Given the description of an element on the screen output the (x, y) to click on. 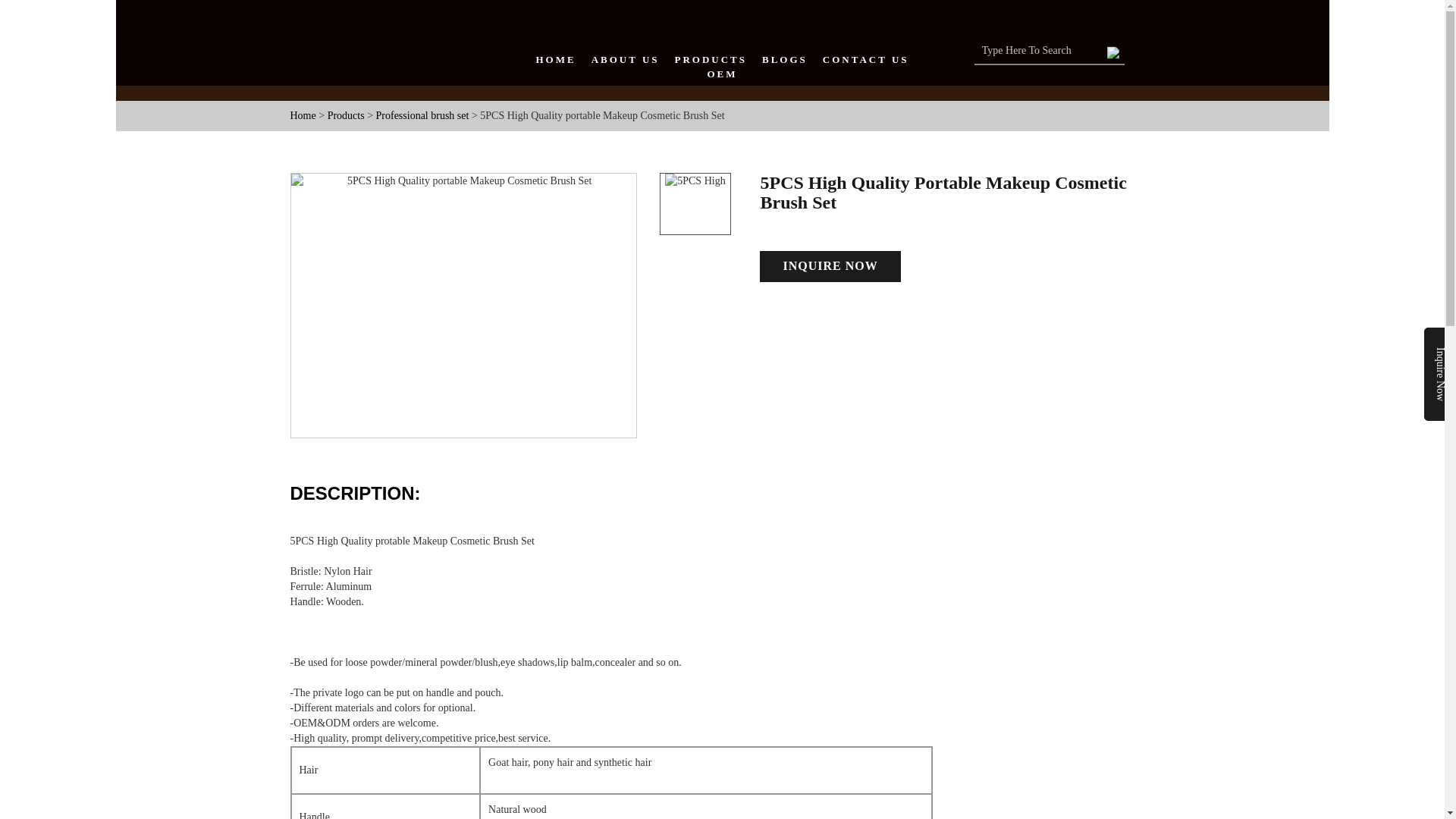
ABOUT US (625, 60)
BLOGS (784, 60)
Professional brush set (423, 115)
OEM (721, 74)
Malena (389, 18)
PRODUCTS (711, 60)
Home (302, 115)
CONTACT US (865, 60)
5PCS High Quality portable Makeup Cosmetic Brush Set (464, 305)
SEARCH (1112, 48)
HOME (555, 60)
Products (346, 115)
INQUIRE NOW (829, 265)
